Given the description of an element on the screen output the (x, y) to click on. 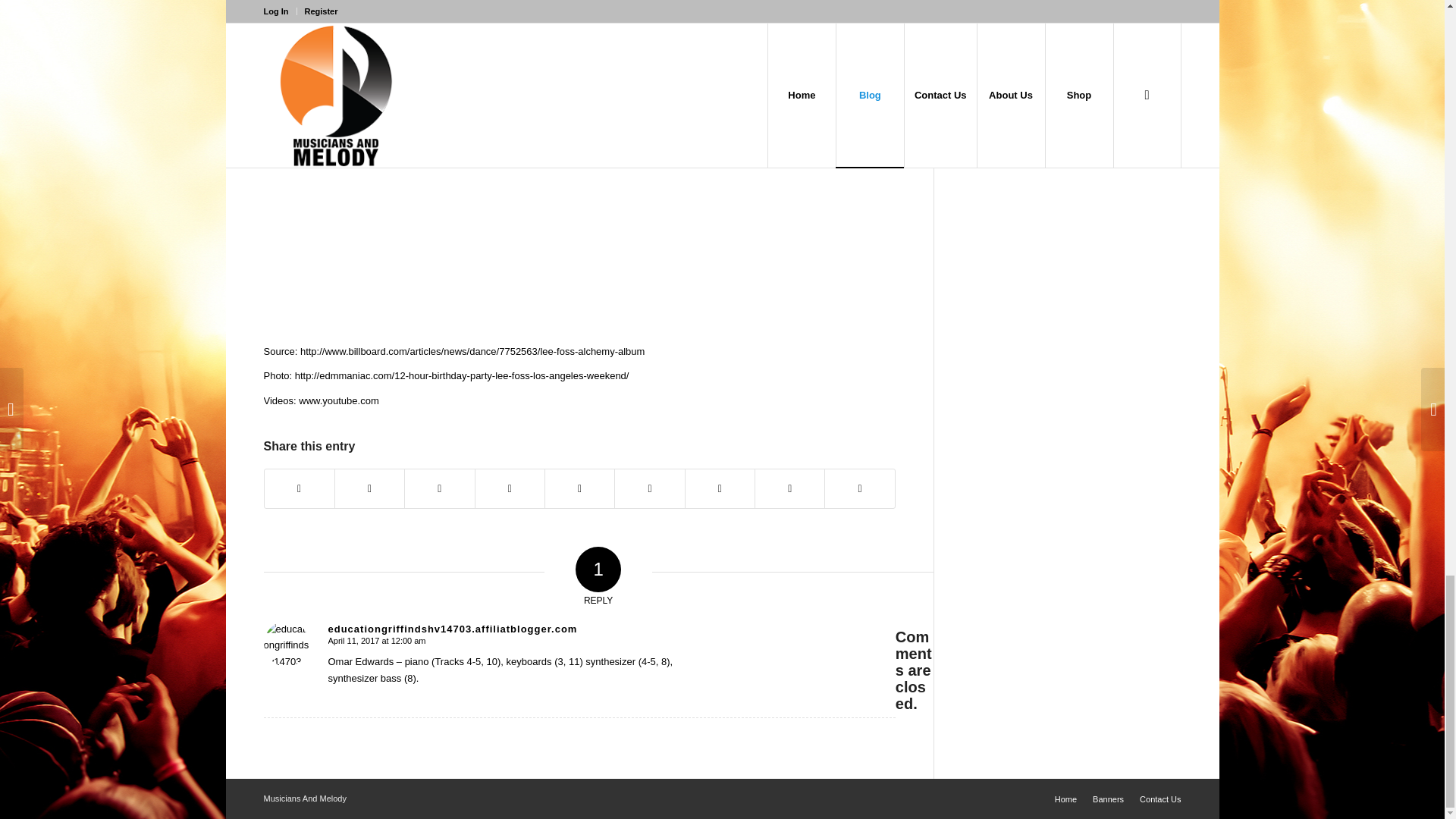
April 11, 2017 at 12:00 am (376, 640)
educationgriffindshv14703.affiliatblogger.com (451, 628)
